Given the description of an element on the screen output the (x, y) to click on. 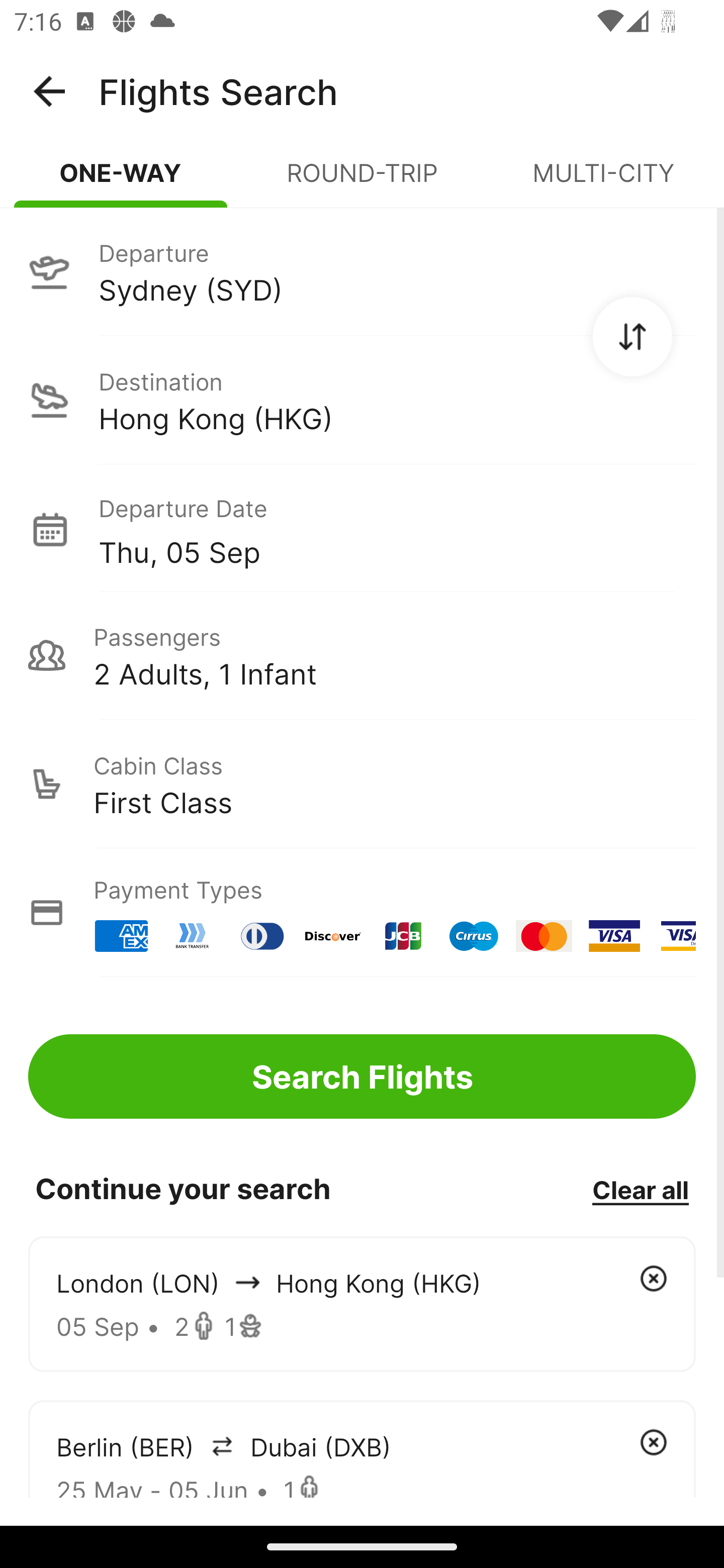
ONE-WAY (120, 180)
ROUND-TRIP (361, 180)
MULTI-CITY (603, 180)
Departure Sydney (SYD) (362, 270)
Destination Hong Kong (HKG) (362, 400)
Departure Date Thu, 05 Sep (396, 528)
Passengers 2 Adults, 1 Infant (362, 655)
Cabin Class First Class (362, 783)
Payment Types (362, 912)
Search Flights (361, 1075)
Clear all (640, 1189)
